Given the description of an element on the screen output the (x, y) to click on. 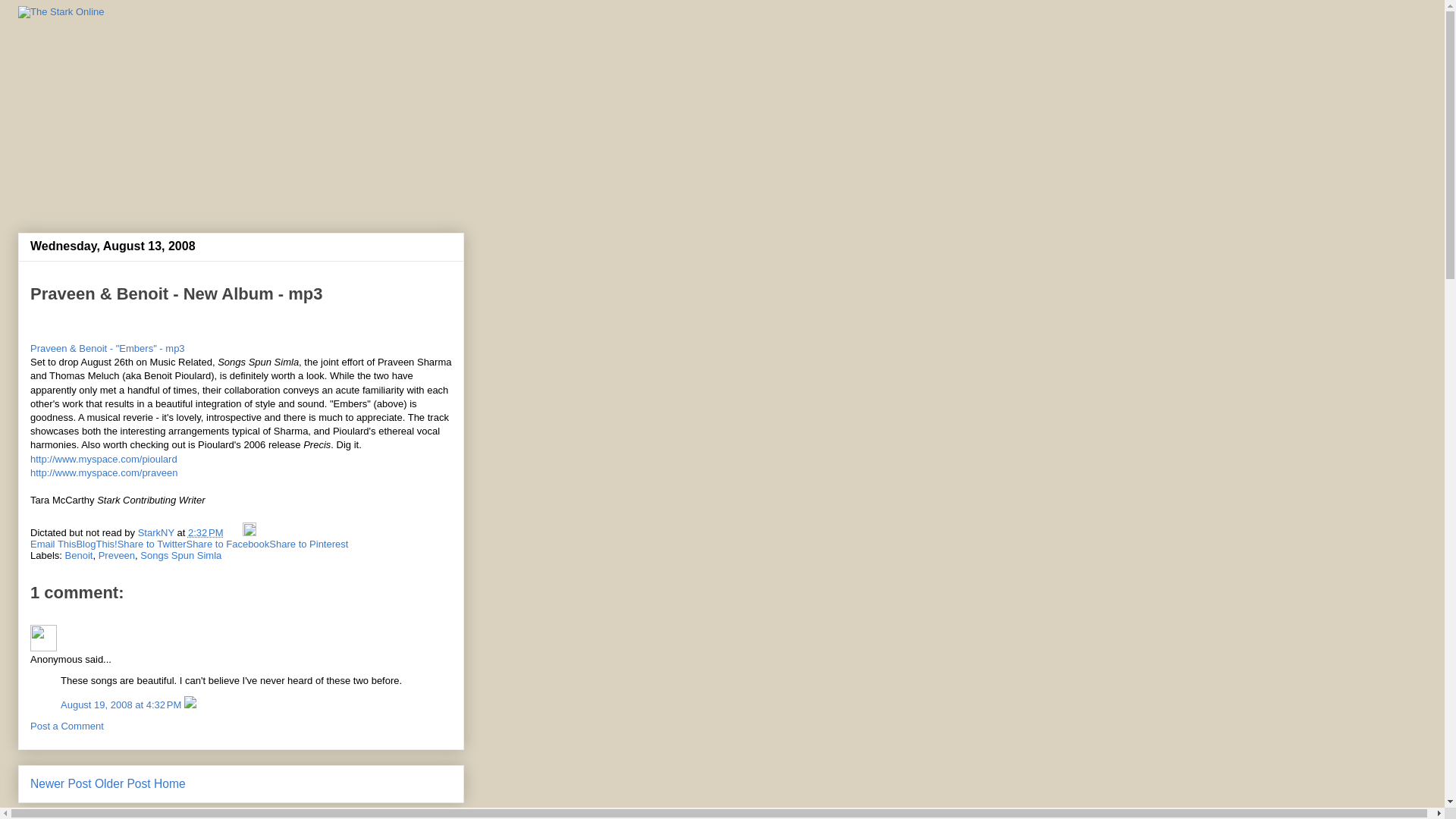
Edit Post (249, 532)
Share to Facebook (227, 543)
Preveen (117, 555)
BlogThis! (95, 543)
Share to Twitter (151, 543)
Email Post (234, 532)
Post a Comment (66, 726)
Delete Comment (190, 704)
Newer Post (60, 783)
StarkNY (157, 532)
Newer Post (60, 783)
Email This (52, 543)
Email This (52, 543)
Home (170, 783)
